Given the description of an element on the screen output the (x, y) to click on. 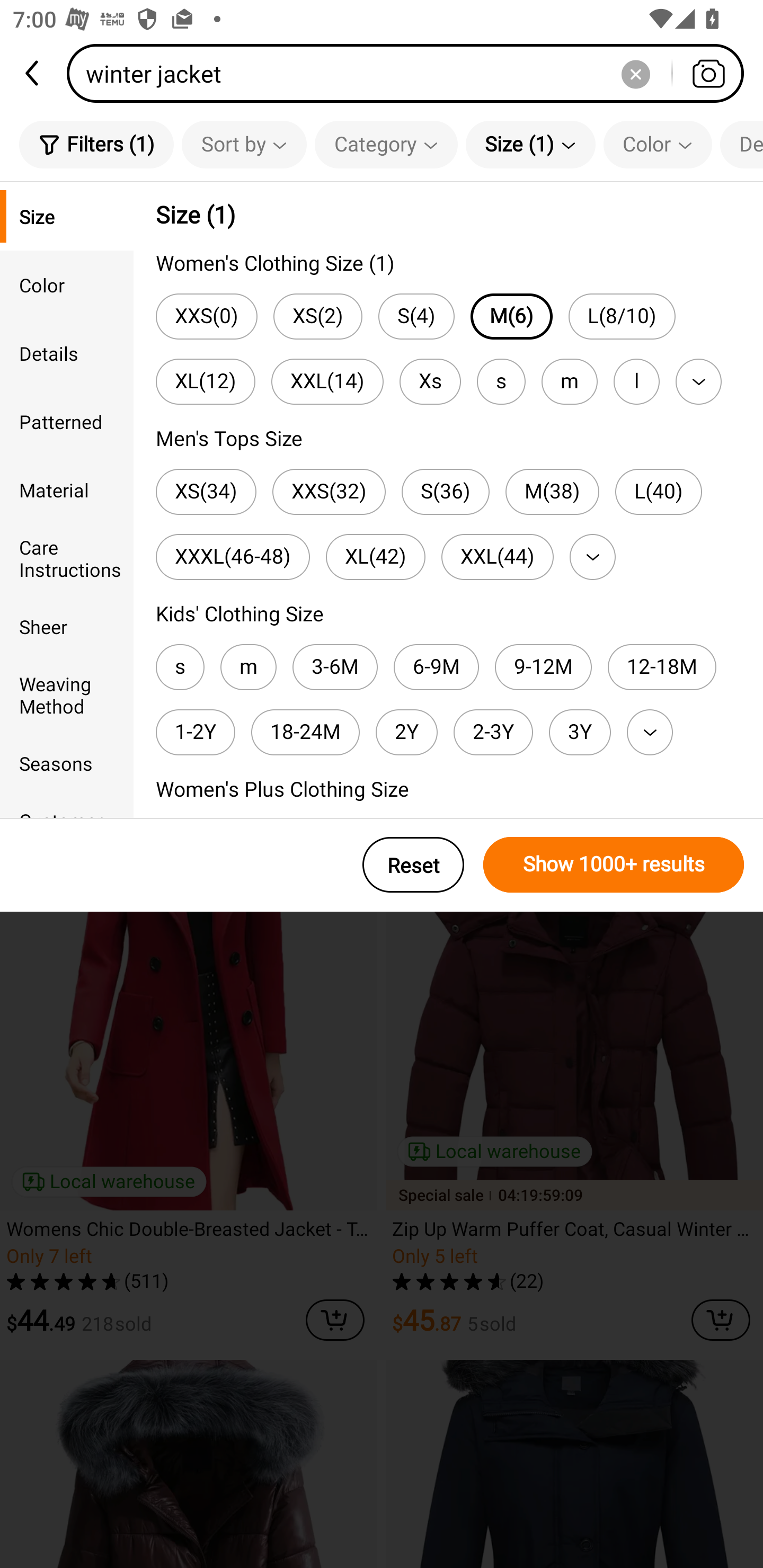
back (33, 72)
winter jacket (411, 73)
Delete search history (635, 73)
Search by photo (708, 73)
Filters (1) (96, 143)
Sort by (243, 143)
Category (385, 143)
Size (1) (530, 143)
Color (657, 143)
Size (66, 215)
Color (66, 284)
XXS(0) (206, 316)
XS(2) (317, 316)
S(4) (416, 316)
M(6) (511, 316)
L(8/10) (621, 316)
Details (66, 352)
XL(12) (205, 381)
XXL(14) (327, 381)
Xs (429, 381)
s (500, 381)
m (569, 381)
l (636, 381)
More (698, 381)
Patterned (66, 421)
Material (66, 489)
XS(34) (205, 491)
XXS(32) (329, 491)
S(36) (445, 491)
M(38) (551, 491)
L(40) (657, 491)
Care Instructions (66, 557)
XXXL(46-48) (232, 557)
XL(42) (375, 557)
XXL(44) (497, 557)
More (592, 557)
Sheer (66, 626)
s (179, 666)
m (248, 666)
3-6M (334, 666)
6-9M (436, 666)
9-12M (543, 666)
12-18M (662, 666)
Weaving Method (66, 694)
1-2Y (195, 731)
18-24M (305, 731)
2Y (406, 731)
2-3Y (493, 731)
3Y (579, 731)
More (649, 731)
Seasons (66, 762)
Reset (412, 864)
Show 1000+ results (612, 864)
